Given the description of an element on the screen output the (x, y) to click on. 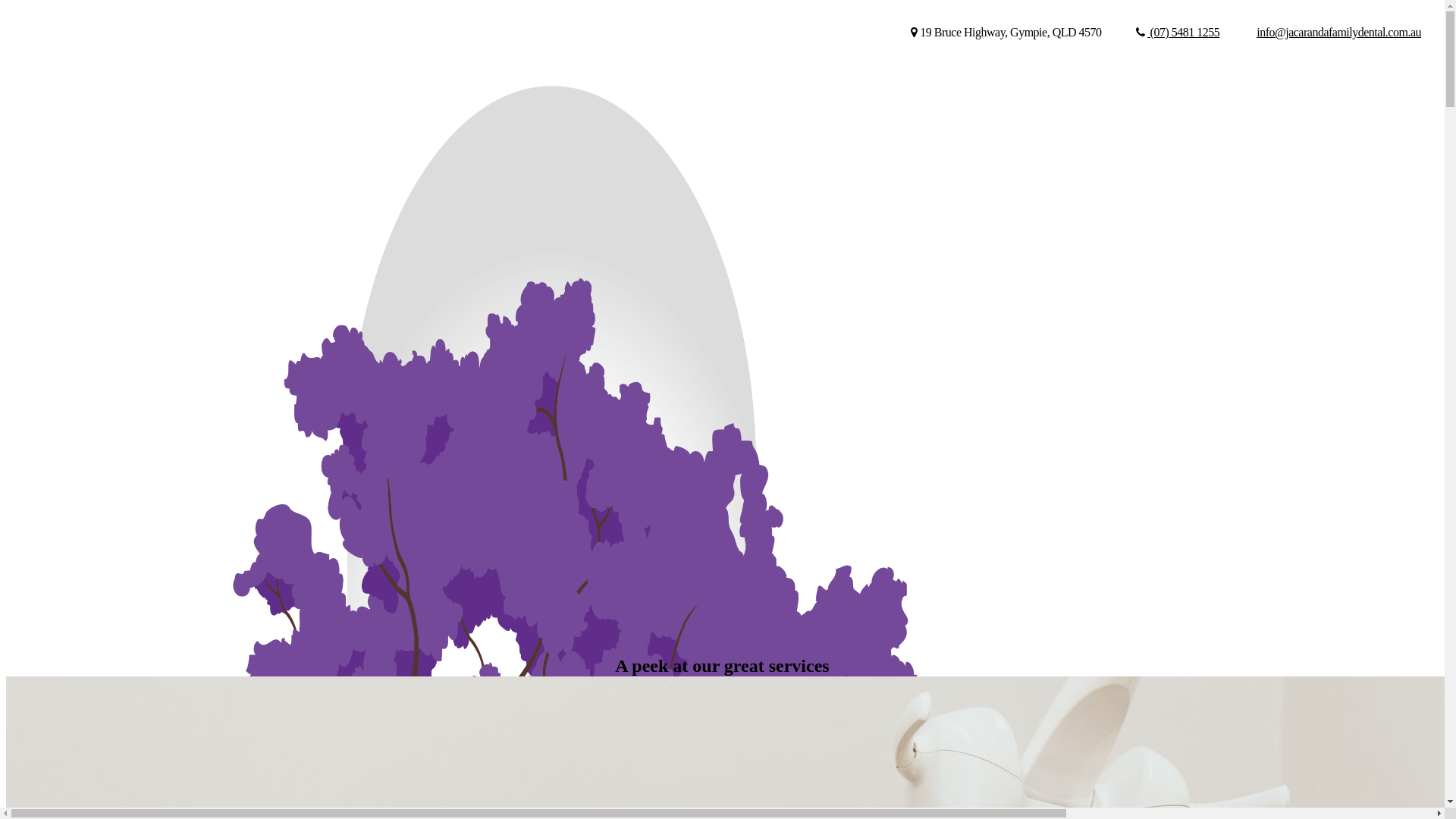
(07) 5481 1255 Element type: text (1177, 32)
info@jacarandafamilydental.com.au Element type: text (1336, 32)
